Given the description of an element on the screen output the (x, y) to click on. 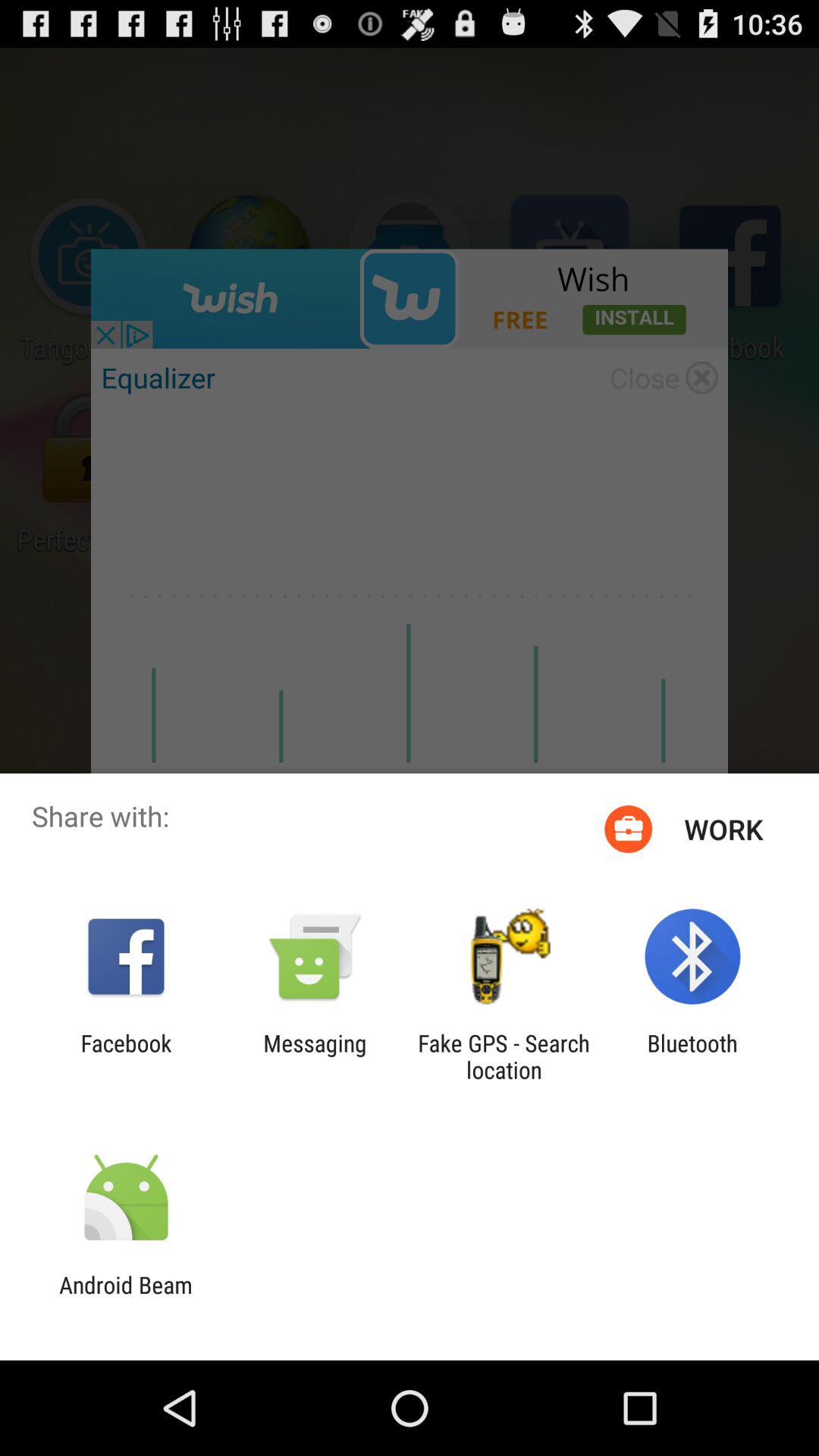
turn off app next to the messaging item (125, 1056)
